Given the description of an element on the screen output the (x, y) to click on. 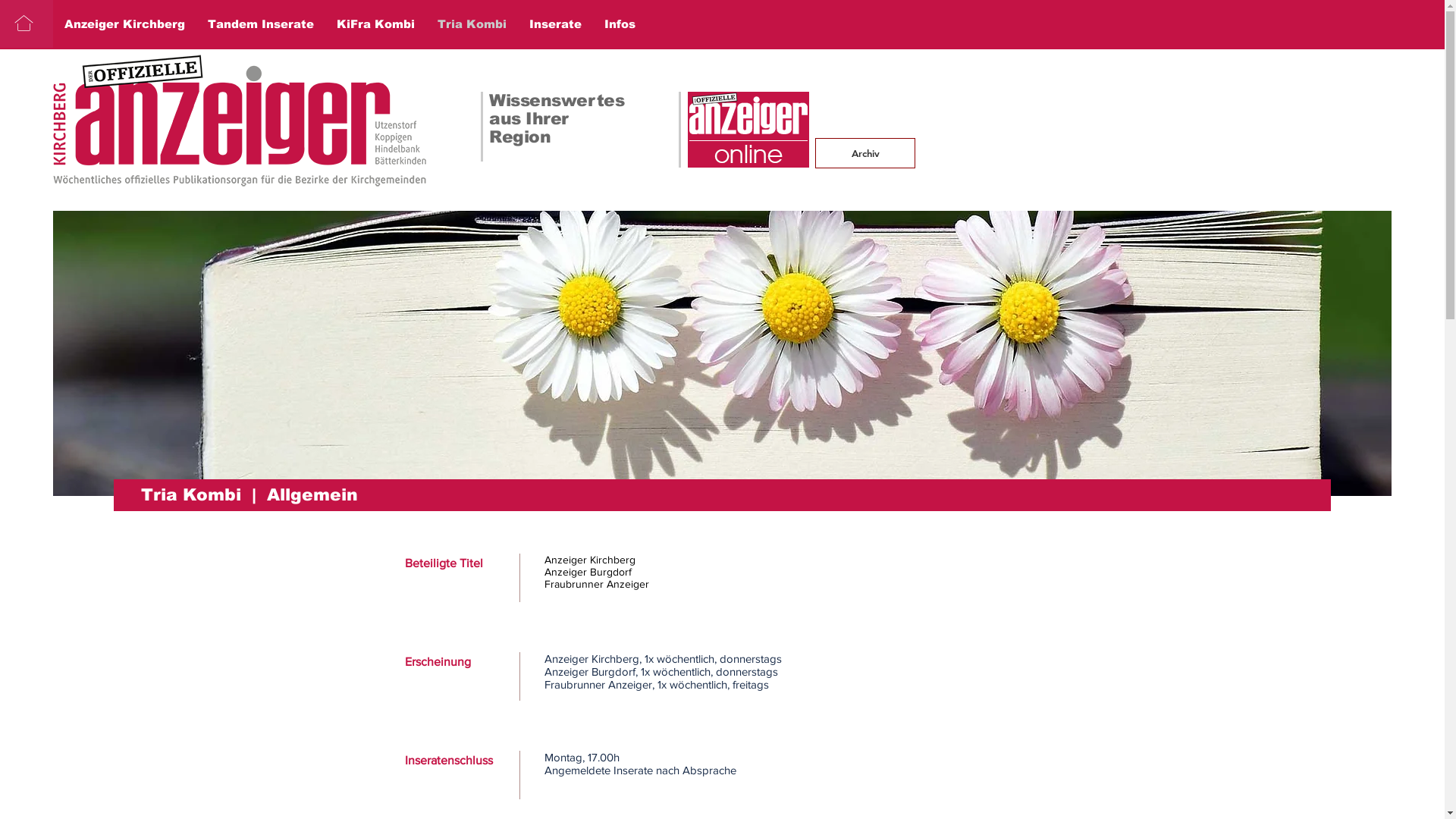
Anzeiger Kirchberg Element type: text (124, 24)
Archiv Element type: text (865, 153)
KiFra Kombi Element type: text (375, 24)
Infos Element type: text (619, 24)
Tria Kombi Element type: text (471, 24)
Inserate Element type: text (555, 24)
Tandem Inserate Element type: text (260, 24)
